Given the description of an element on the screen output the (x, y) to click on. 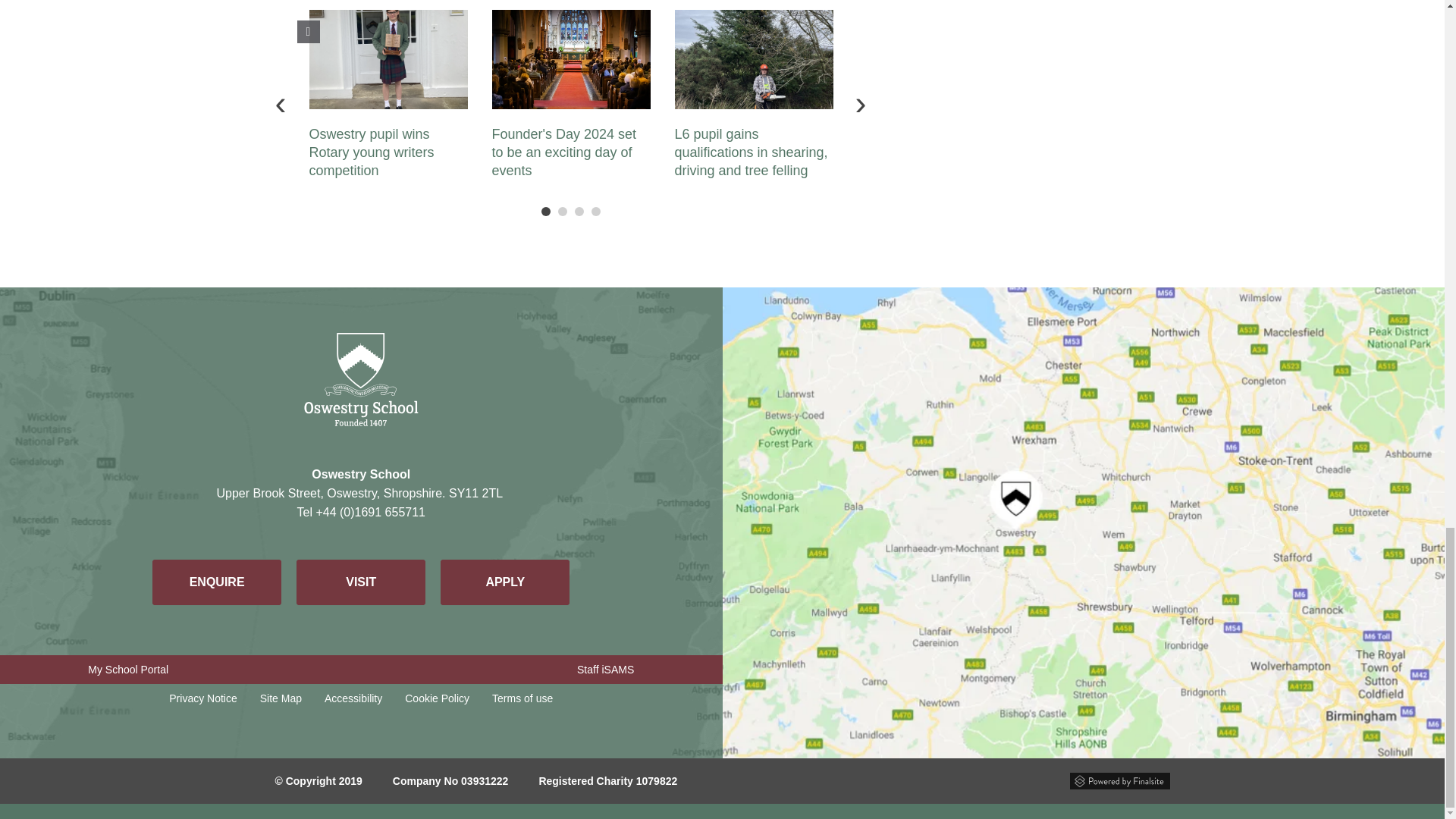
Oswestry pupil wins Rotary young writers competition (387, 58)
Founder's Day 2024 set to be an exciting day of events (570, 58)
